Given the description of an element on the screen output the (x, y) to click on. 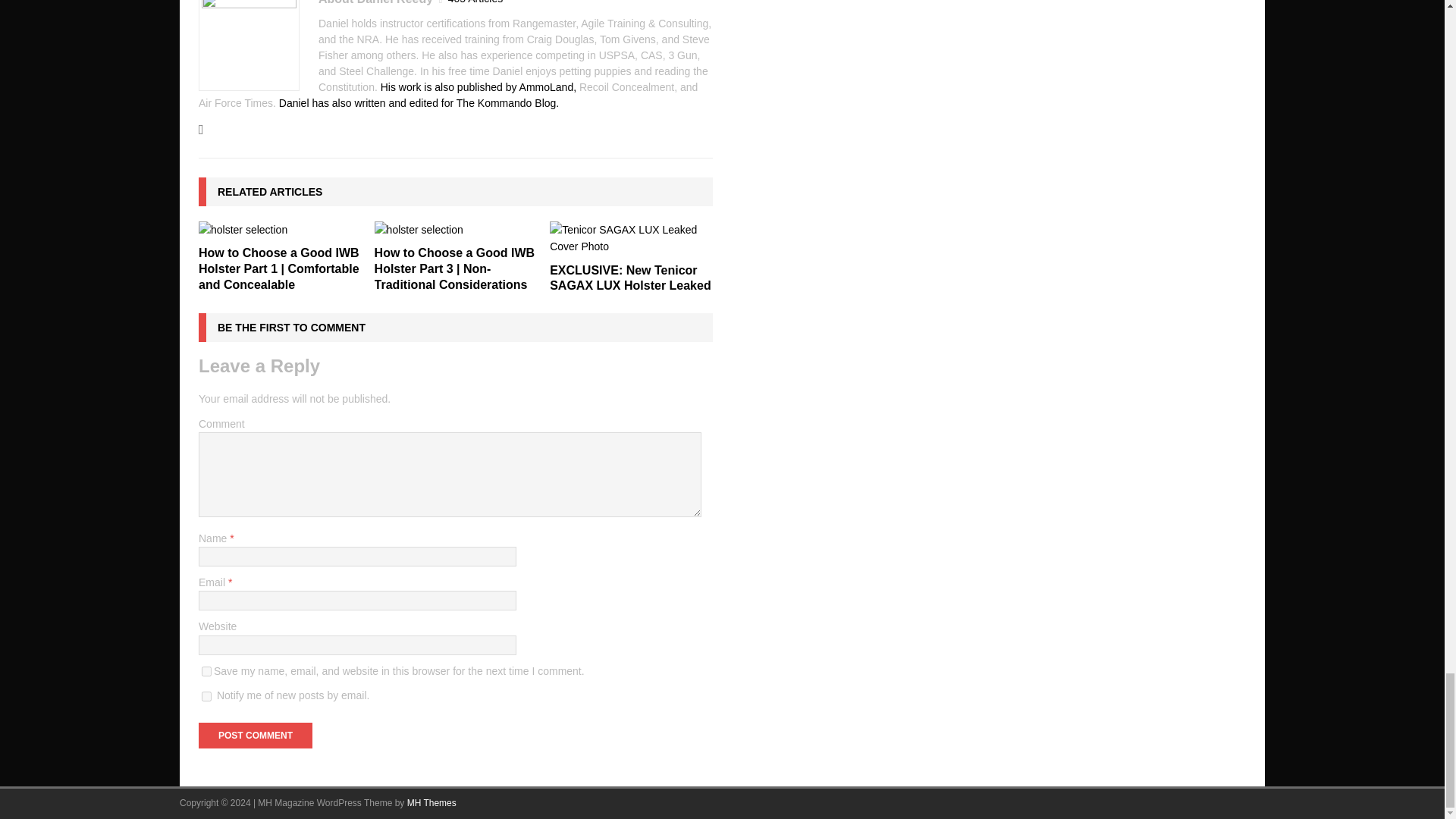
Post Comment (255, 735)
yes (206, 671)
subscribe (206, 696)
